Given the description of an element on the screen output the (x, y) to click on. 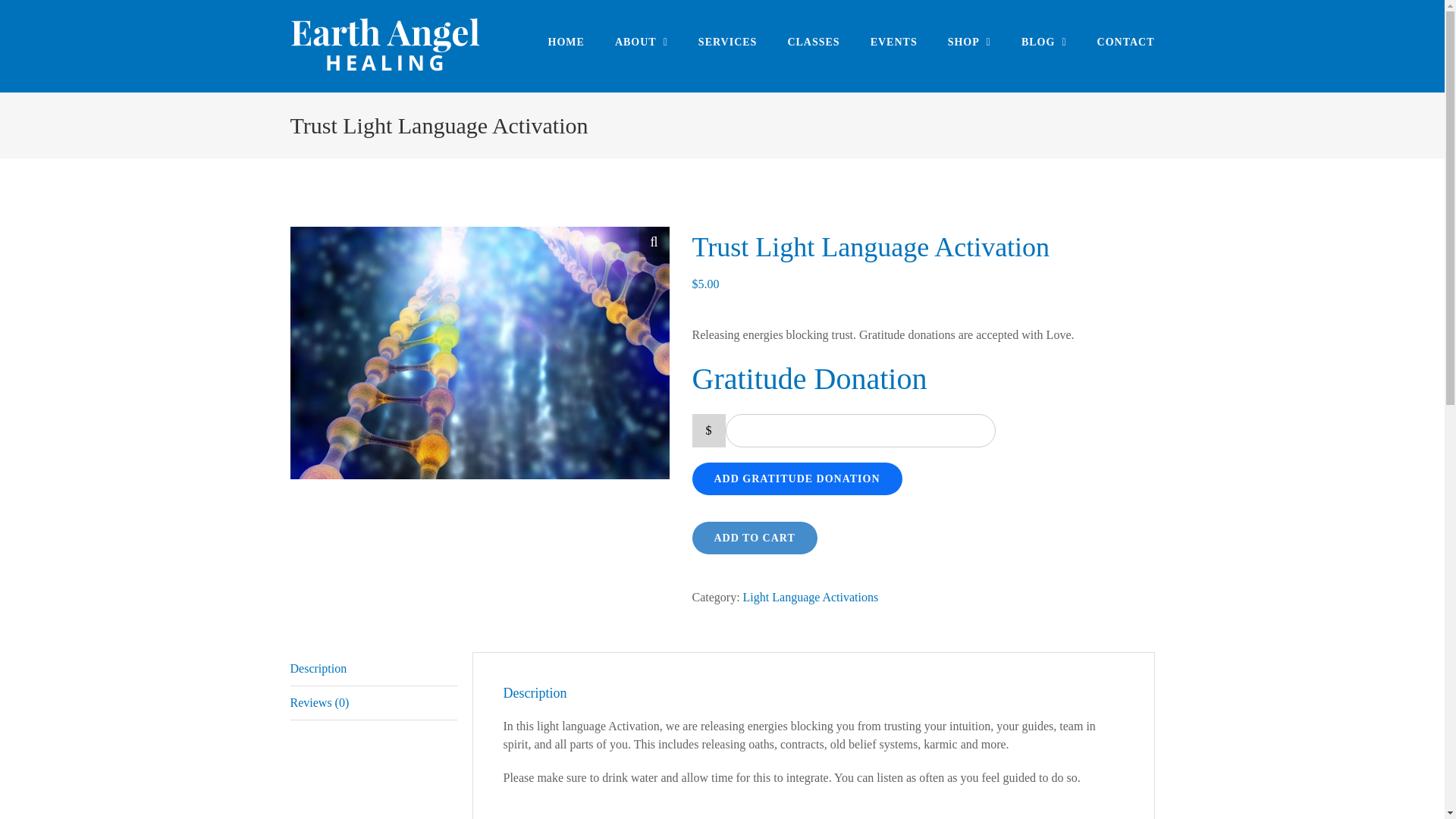
sound and light healing (478, 352)
